Given the description of an element on the screen output the (x, y) to click on. 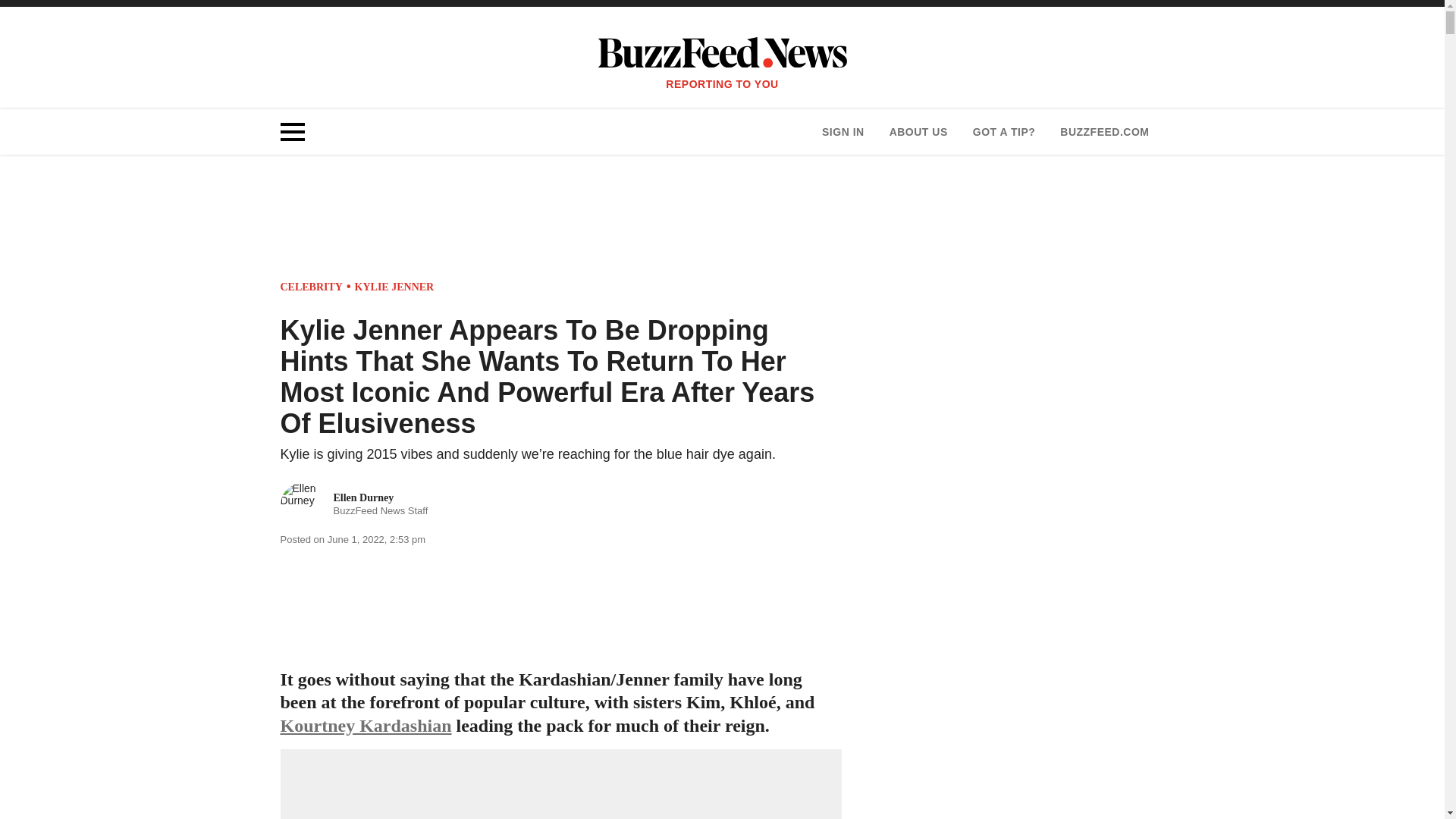
ABOUT US (917, 131)
BUZZFEED.COM (354, 505)
KYLIE JENNER (1103, 131)
SIGN IN (394, 286)
Kourtney Kardashian (842, 131)
CELEBRITY (366, 725)
GOT A TIP? (311, 286)
